Given the description of an element on the screen output the (x, y) to click on. 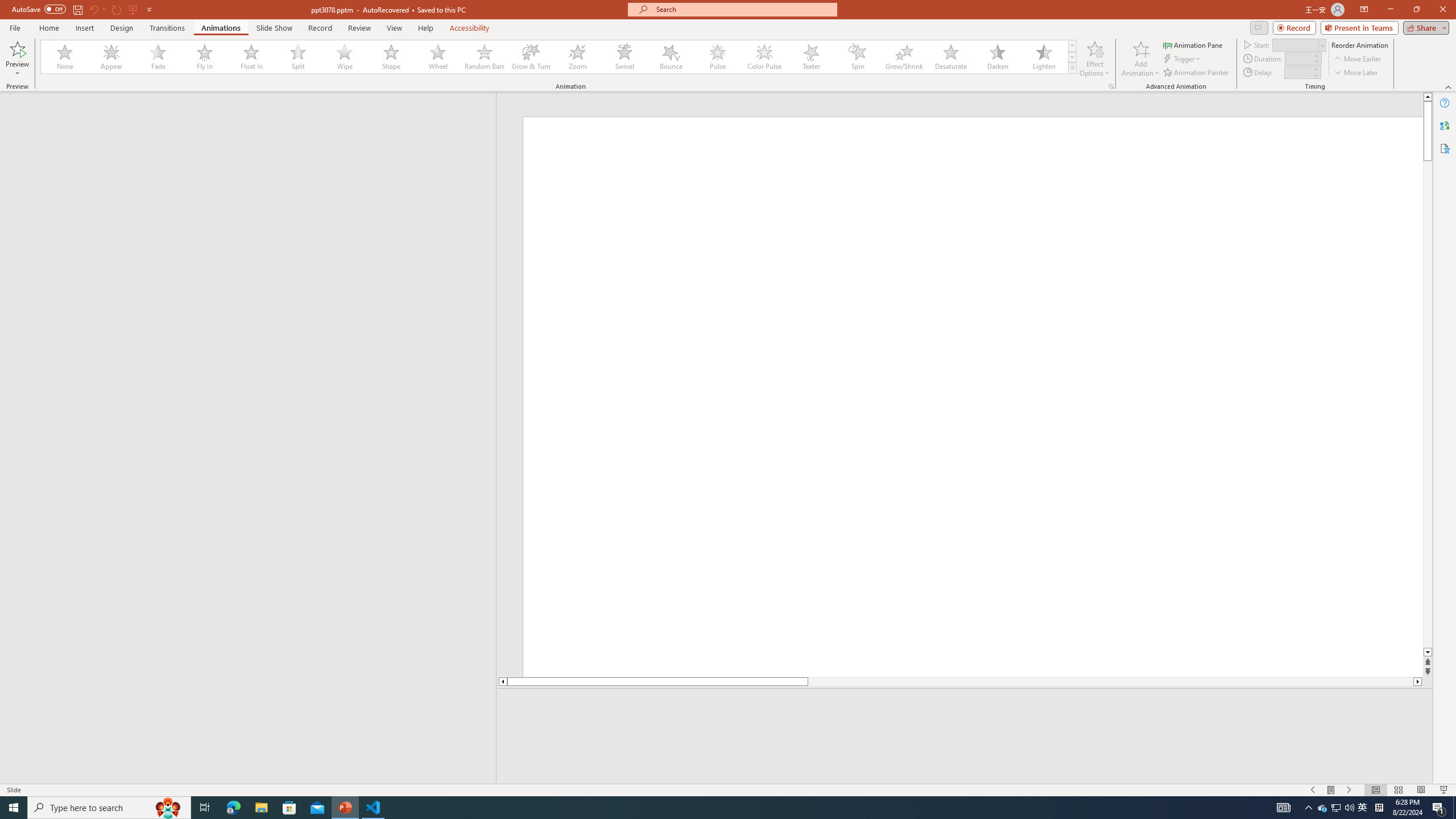
Teeter (810, 56)
Slide Show Previous On (1313, 790)
Swivel (624, 56)
Color Pulse (764, 56)
